Given the description of an element on the screen output the (x, y) to click on. 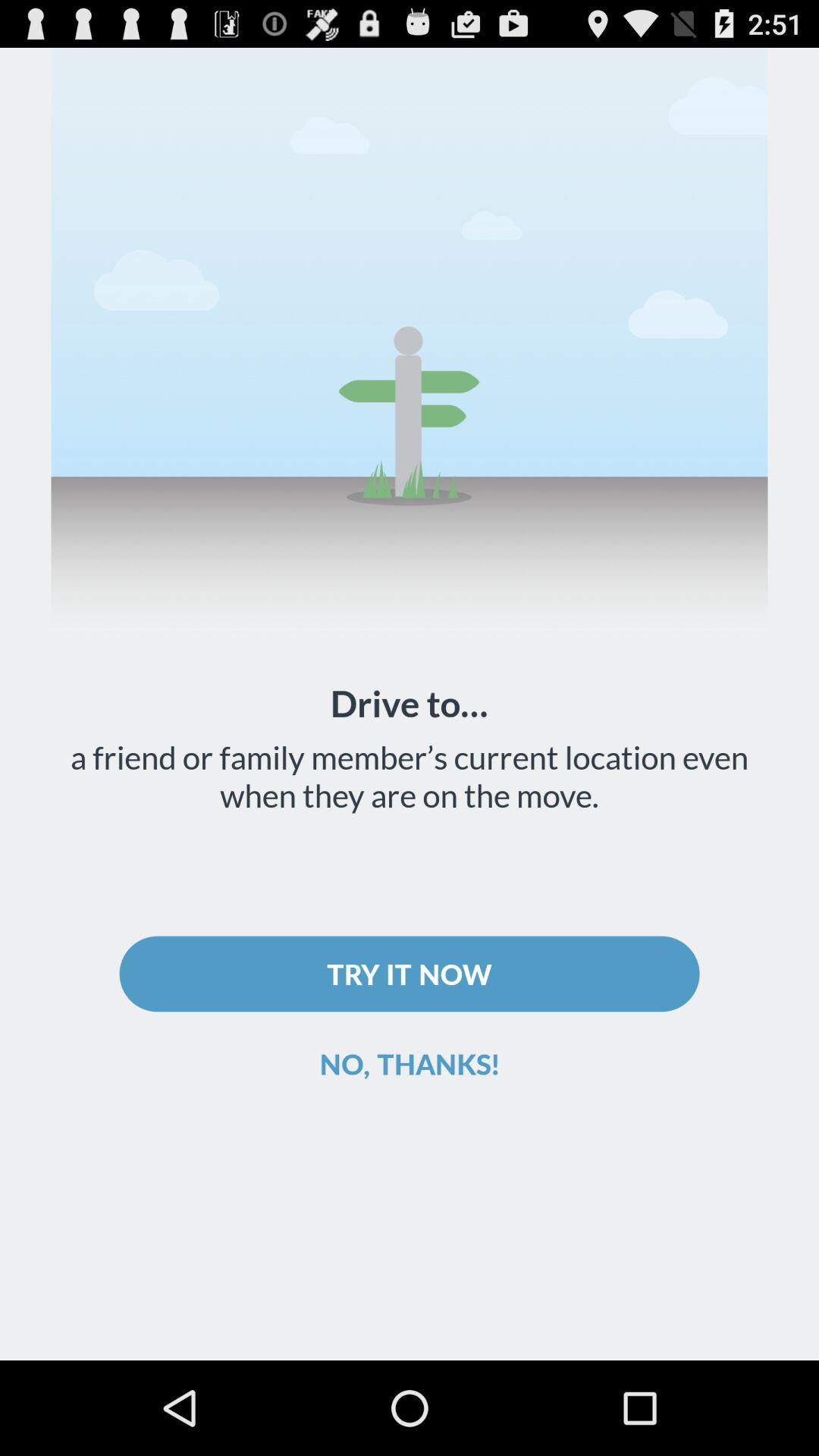
scroll to no, thanks! (409, 1063)
